Given the description of an element on the screen output the (x, y) to click on. 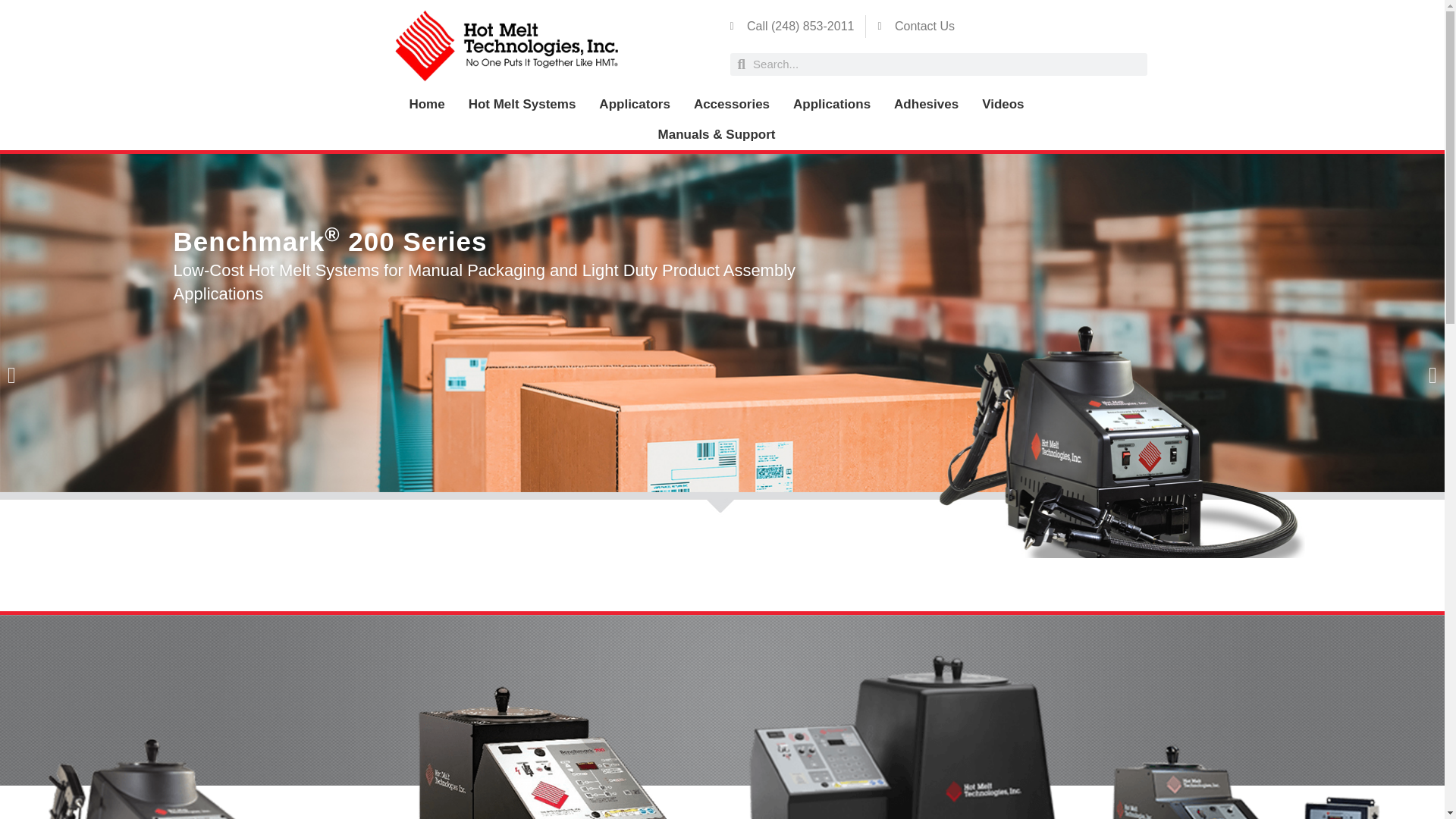
Home (426, 104)
Contact Us (916, 26)
Search (46, 27)
Hot Melt Systems (522, 104)
